Given the description of an element on the screen output the (x, y) to click on. 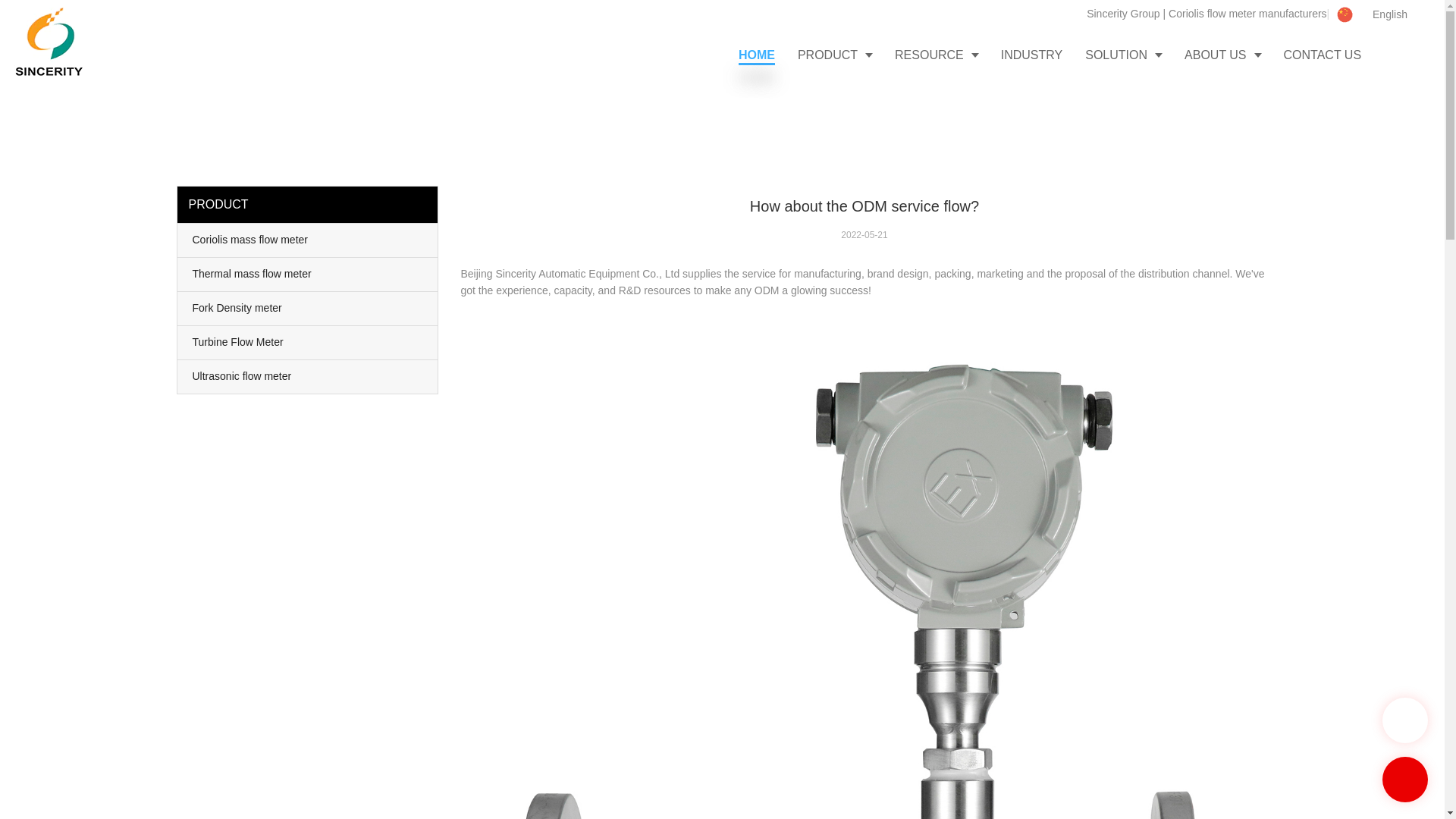
Ultrasonic flow meter (307, 376)
PRODUCT (834, 55)
Fork Density meter (307, 308)
SOLUTION (1123, 55)
ABOUT US (1222, 55)
RESOURCE (936, 55)
CONTACT US (1322, 55)
Coriolis mass flow meter (307, 240)
INDUSTRY (1032, 55)
Turbine Flow Meter (307, 342)
